Given the description of an element on the screen output the (x, y) to click on. 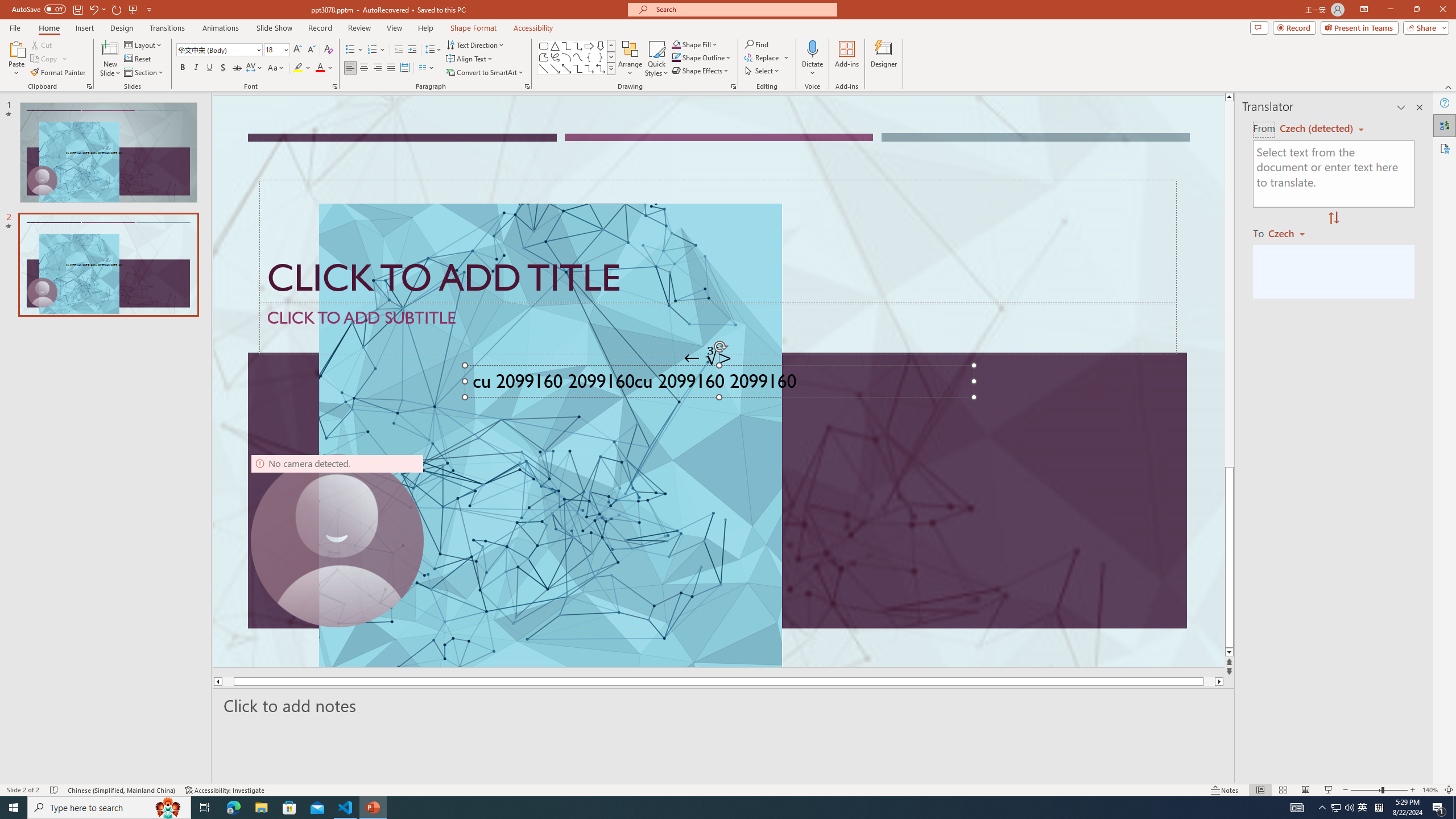
Shape Fill Dark Green, Accent 2 (675, 44)
Czech (1291, 232)
